Given the description of an element on the screen output the (x, y) to click on. 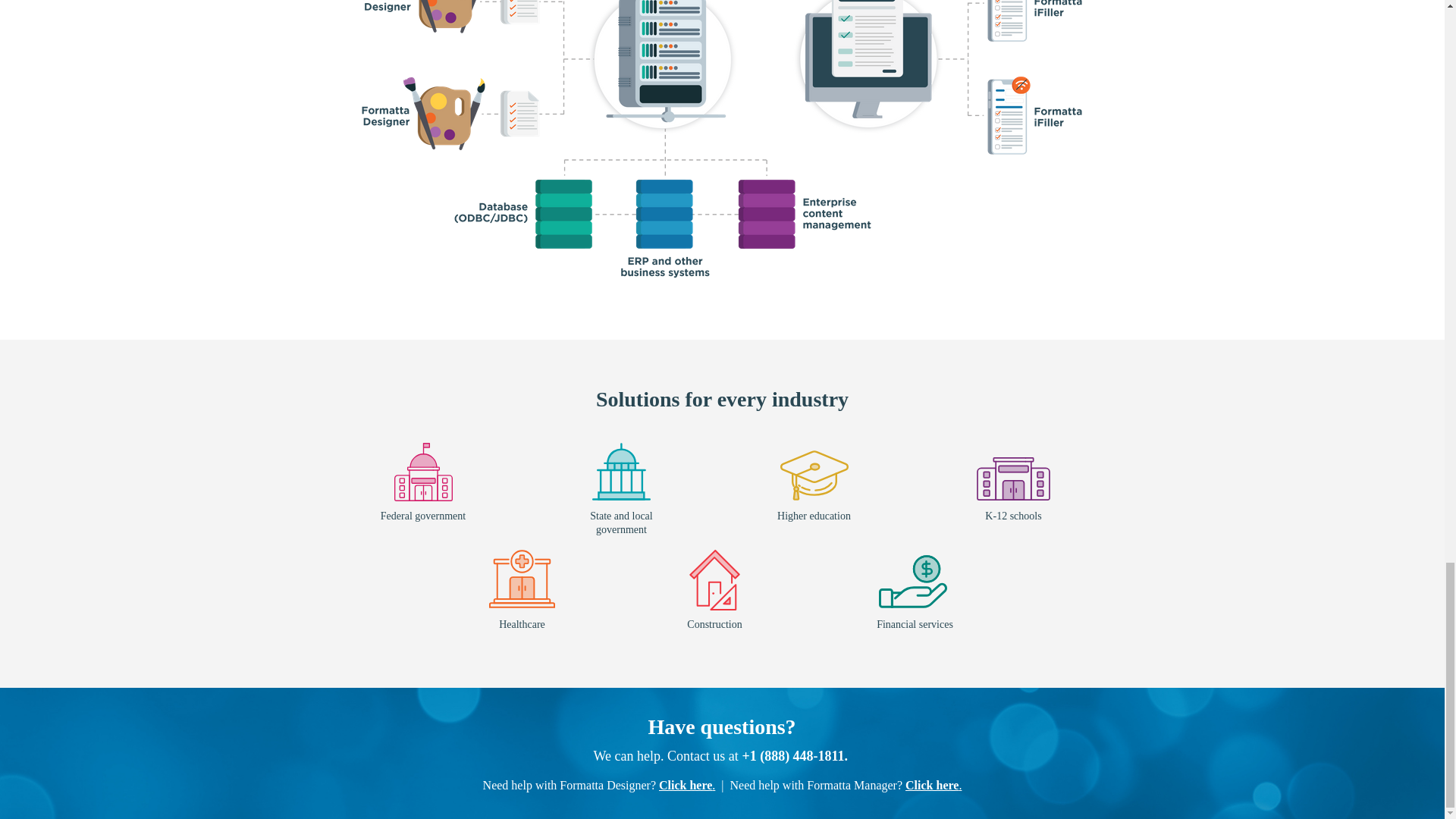
Click here. (932, 784)
Click here. (686, 784)
